Given the description of an element on the screen output the (x, y) to click on. 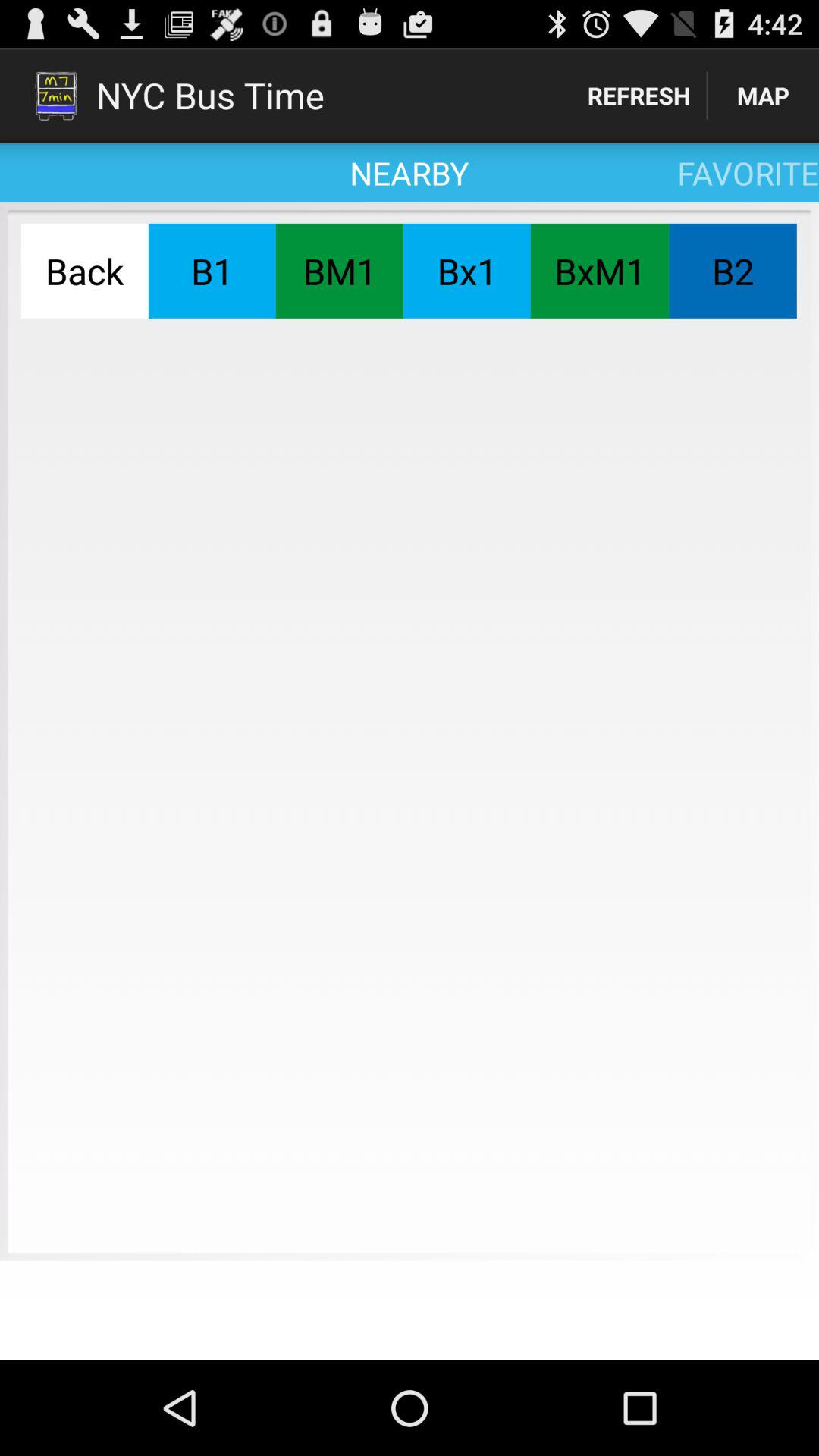
turn off the item to the right of the bxm1 item (732, 271)
